Given the description of an element on the screen output the (x, y) to click on. 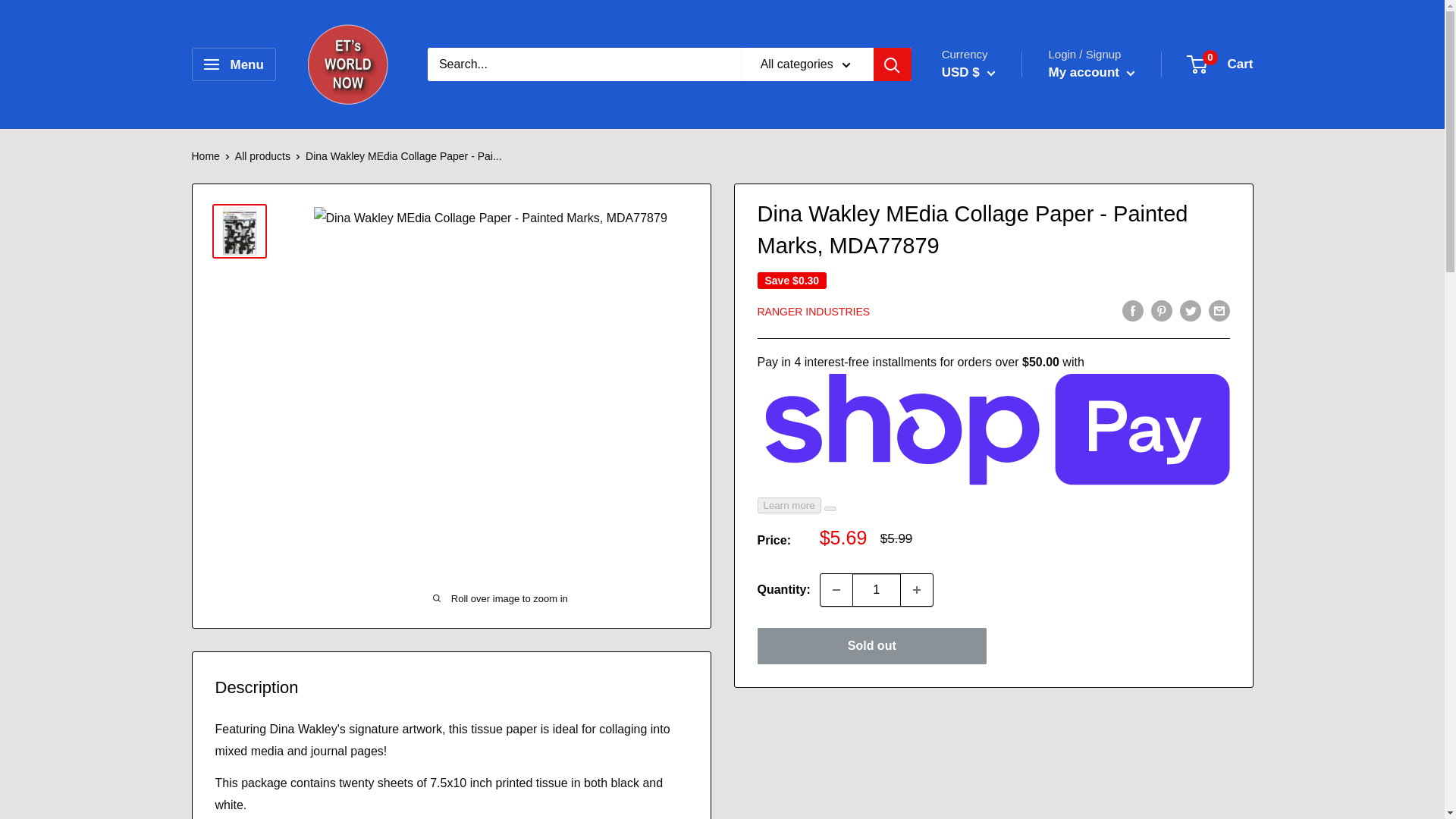
Decrease quantity by 1 (836, 590)
Increase quantity by 1 (917, 590)
1 (876, 590)
